Given the description of an element on the screen output the (x, y) to click on. 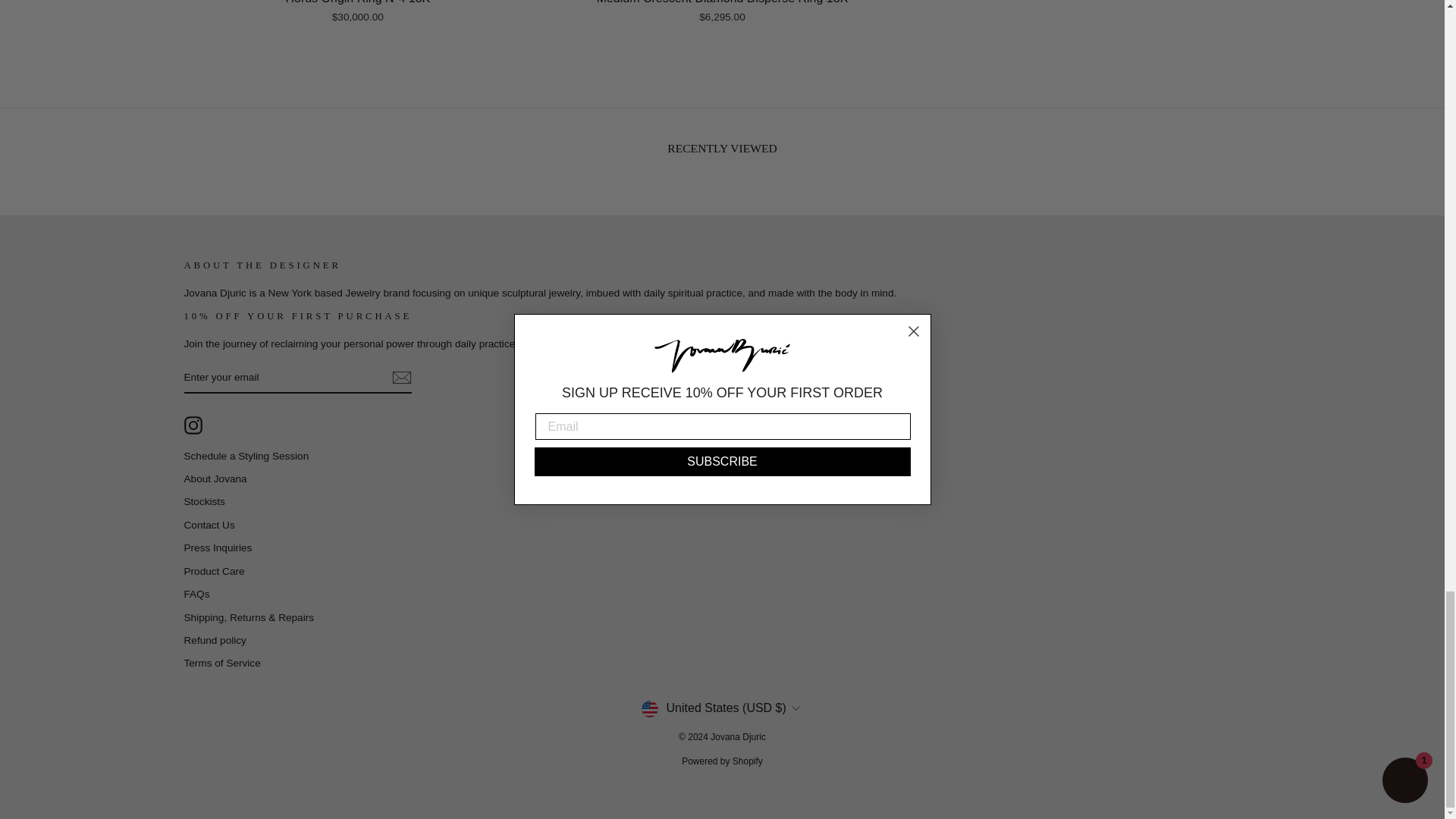
instagram (192, 425)
Jovana Djuric on Instagram (192, 425)
icon-email (400, 377)
